Given the description of an element on the screen output the (x, y) to click on. 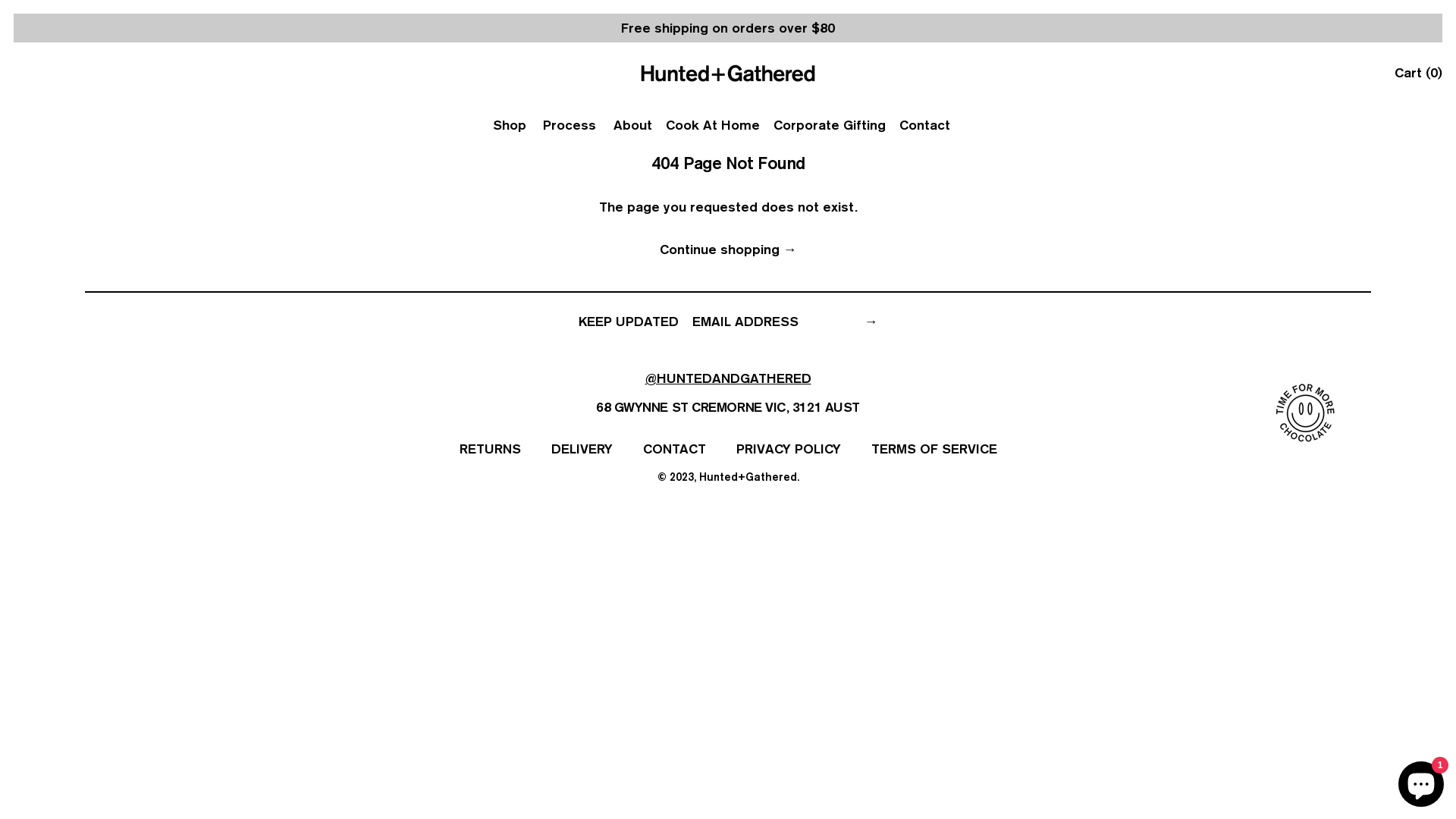
About Element type: text (631, 124)
DELIVERY Element type: text (580, 448)
Shop Element type: text (511, 124)
Free shipping on orders over $80 Element type: text (727, 27)
CONTACT Element type: text (674, 448)
@HUNTEDANDGATHERED Element type: text (727, 377)
Cart (0) Element type: text (1418, 72)
Process Element type: text (570, 124)
TERMS OF SERVICE Element type: text (933, 448)
Shopify online store chat Element type: hover (1420, 780)
Cook At Home Element type: text (712, 124)
Hunted+Gathered Element type: text (748, 476)
RETURNS Element type: text (489, 448)
Corporate Gifting Element type: text (829, 124)
Contact Element type: text (924, 124)
PRIVACY POLICY Element type: text (787, 448)
